Given the description of an element on the screen output the (x, y) to click on. 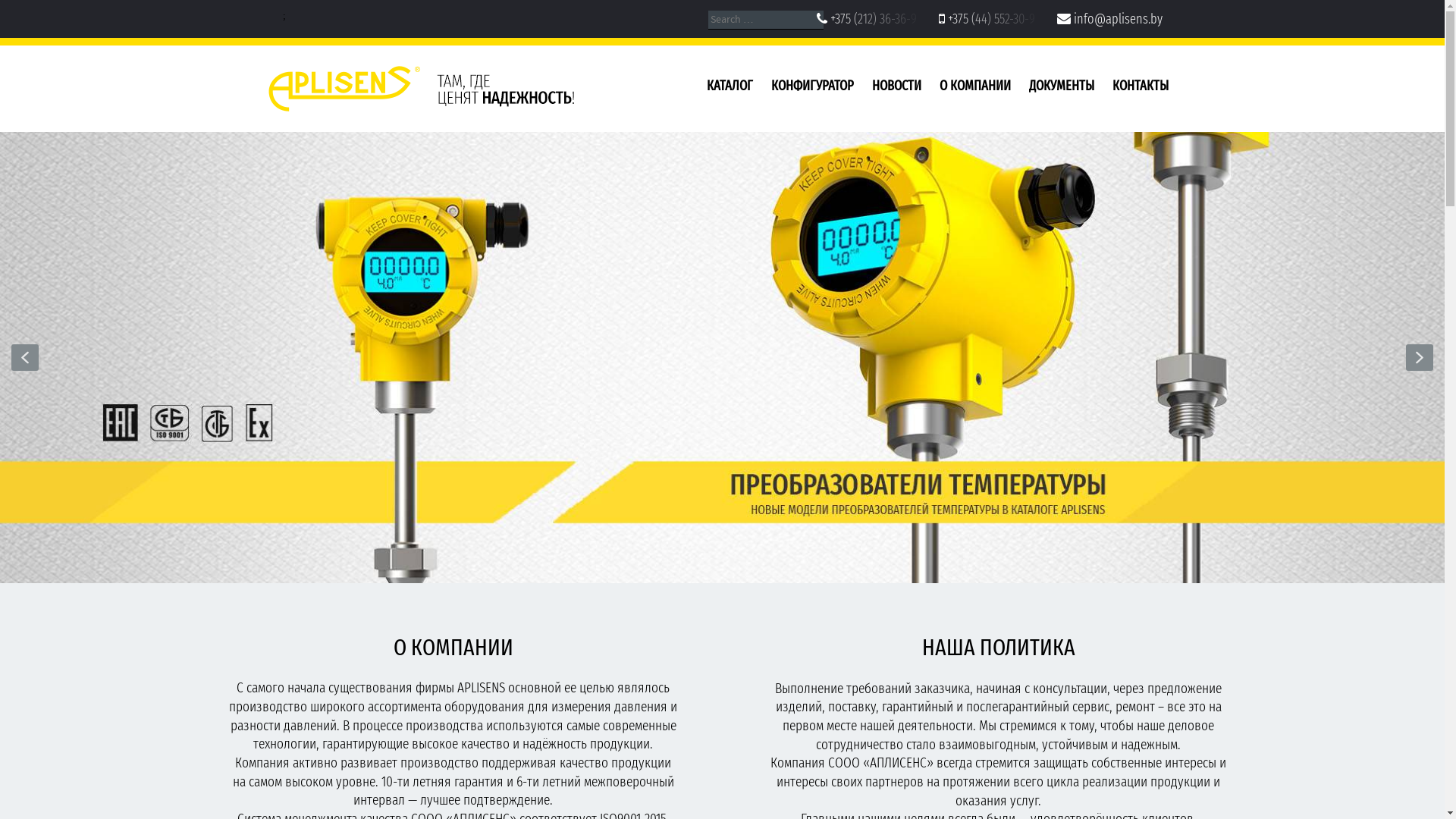
+375 (212) 36-36-9 Element type: text (875, 18)
Search Element type: text (34, 13)
+375 (44) 552-30-9 Element type: text (994, 18)
SKIP TO CONTENT Element type: text (674, 88)
info@aplisens.by Element type: text (1117, 18)
